Given the description of an element on the screen output the (x, y) to click on. 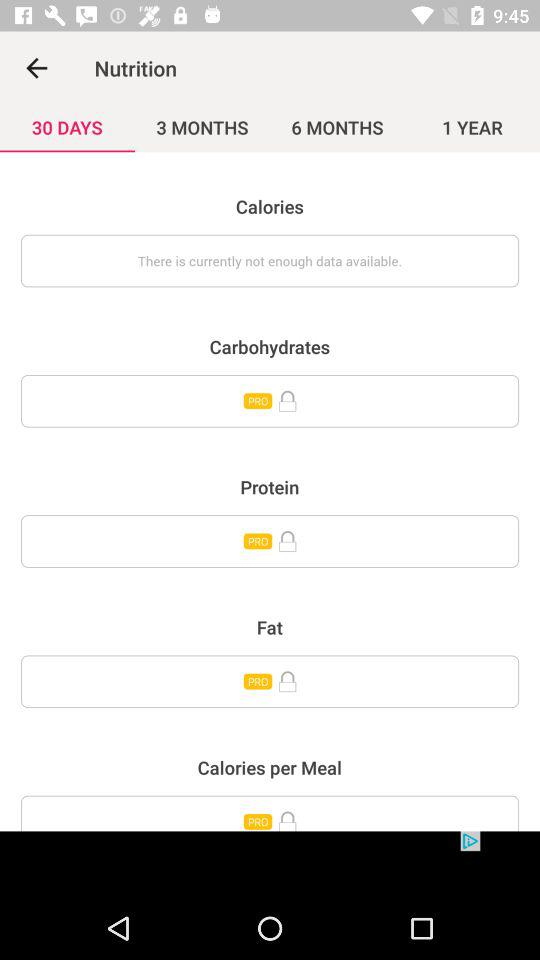
unlock pro mode (269, 813)
